Given the description of an element on the screen output the (x, y) to click on. 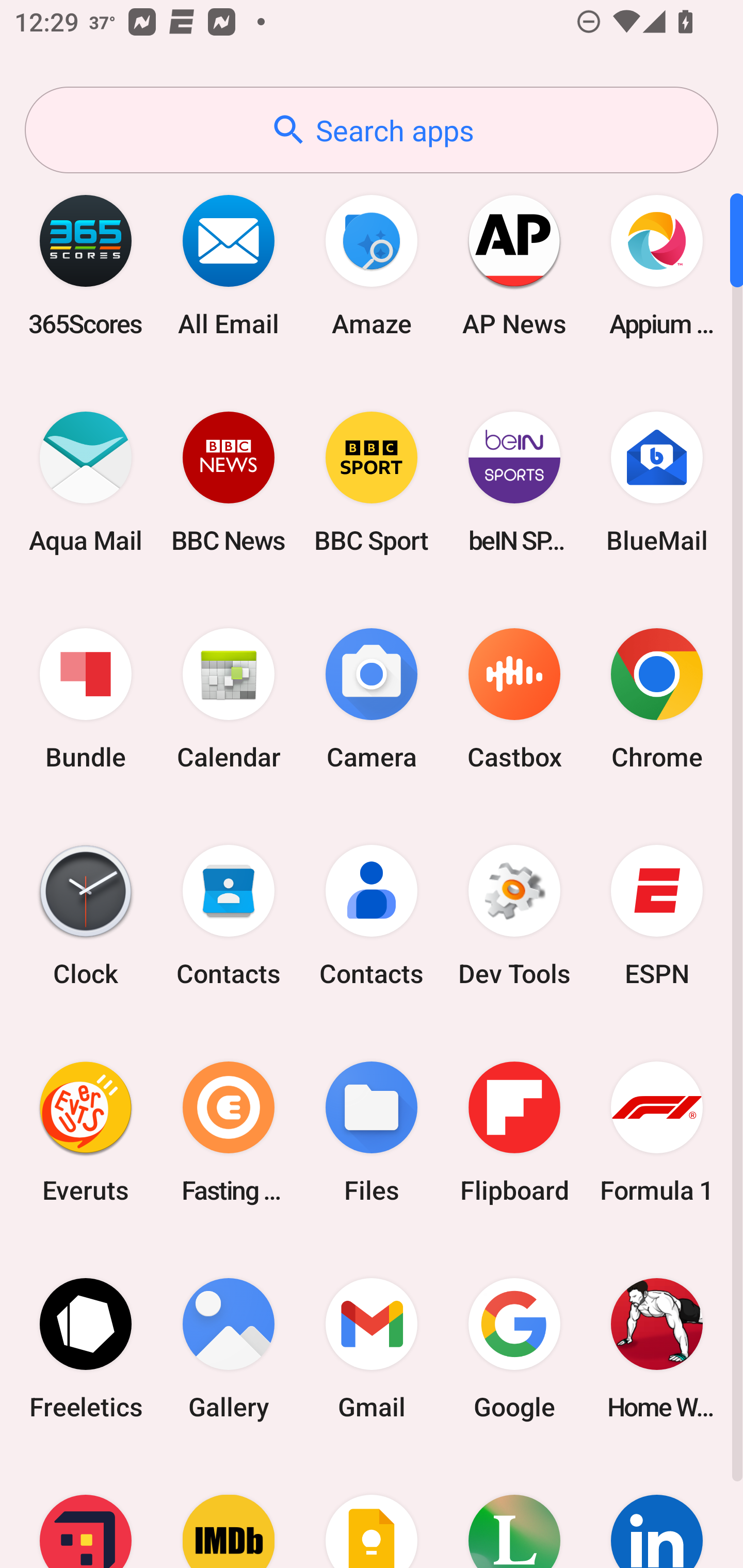
  Search apps (371, 130)
365Scores (85, 264)
All Email (228, 264)
Amaze (371, 264)
AP News (514, 264)
Appium Settings (656, 264)
Aqua Mail (85, 482)
BBC News (228, 482)
BBC Sport (371, 482)
beIN SPORTS (514, 482)
BlueMail (656, 482)
Bundle (85, 699)
Calendar (228, 699)
Camera (371, 699)
Castbox (514, 699)
Chrome (656, 699)
Clock (85, 915)
Contacts (228, 915)
Contacts (371, 915)
Dev Tools (514, 915)
ESPN (656, 915)
Everuts (85, 1131)
Fasting Coach (228, 1131)
Files (371, 1131)
Flipboard (514, 1131)
Formula 1 (656, 1131)
Freeletics (85, 1348)
Gallery (228, 1348)
Gmail (371, 1348)
Google (514, 1348)
Home Workout (656, 1348)
Hotels.com (85, 1512)
IMDb (228, 1512)
Keep Notes (371, 1512)
Lifesum (514, 1512)
LinkedIn (656, 1512)
